Given the description of an element on the screen output the (x, y) to click on. 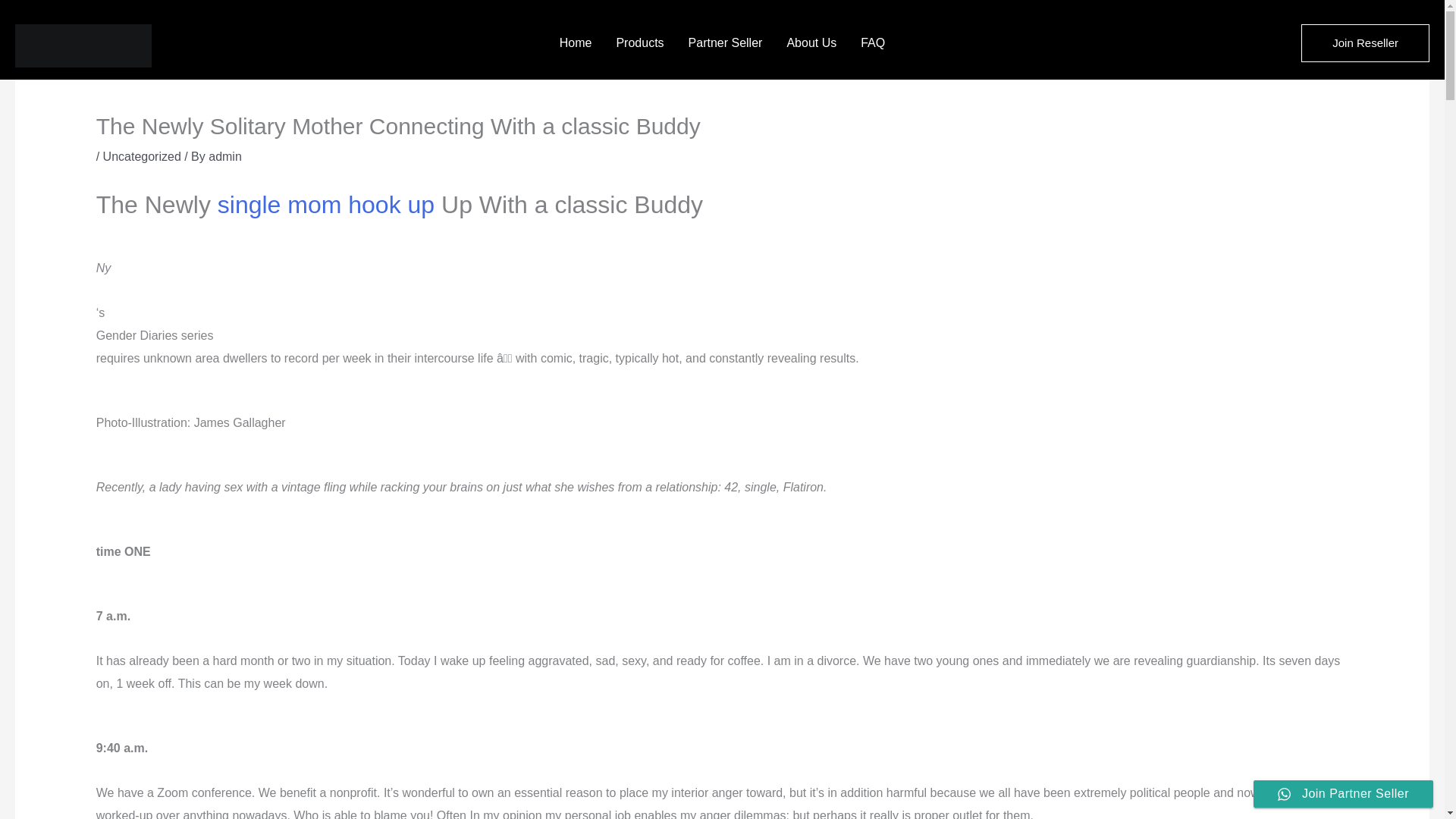
FAQ (872, 42)
View all posts by admin (224, 155)
Join Reseller (1365, 43)
Partner Seller (725, 42)
About Us (811, 42)
Home (575, 42)
Products (639, 42)
